Given the description of an element on the screen output the (x, y) to click on. 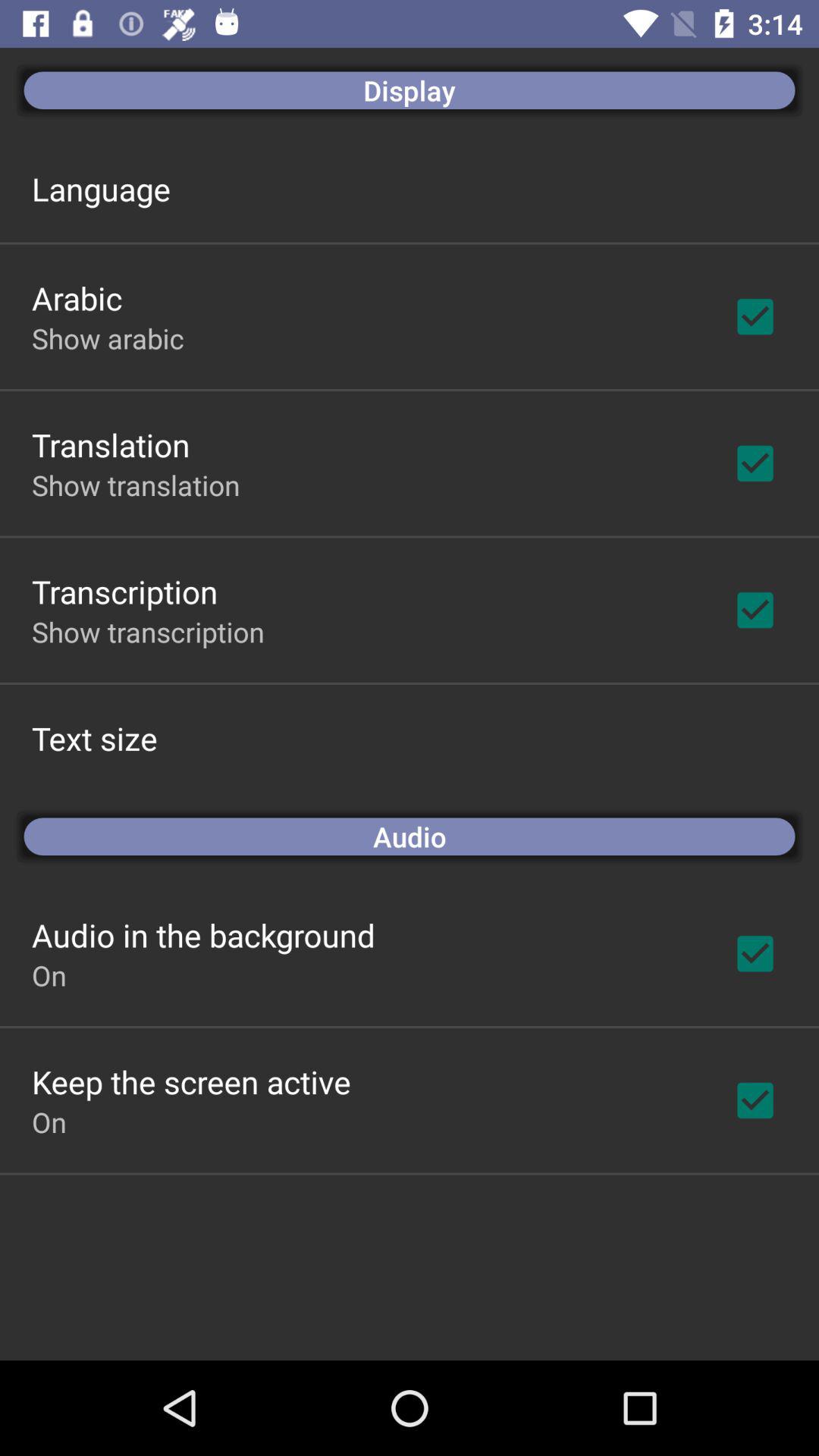
scroll until the text size app (94, 737)
